Given the description of an element on the screen output the (x, y) to click on. 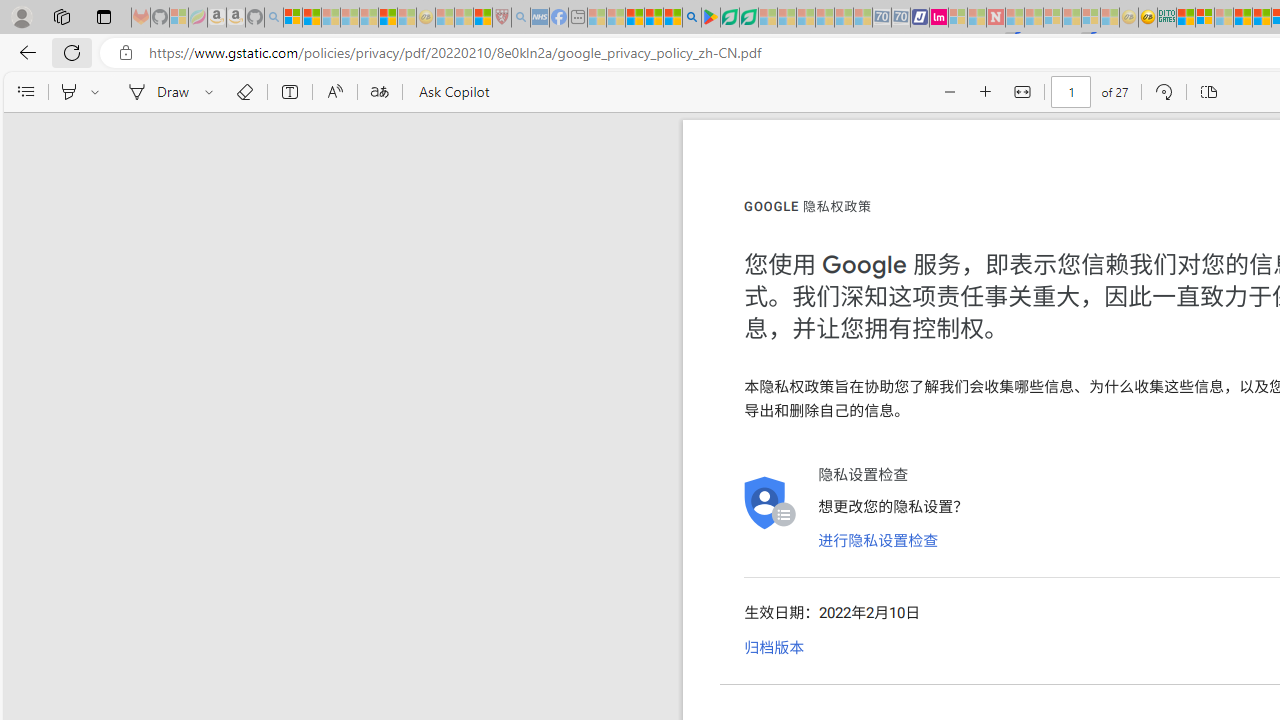
Bluey: Let's Play! - Apps on Google Play (710, 17)
Pets - MSN (654, 17)
The Weather Channel - MSN - Sleeping (331, 17)
Microsoft Start - Sleeping (976, 17)
Recipes - MSN - Sleeping (445, 17)
Zoom in (Ctrl+Plus key) (985, 92)
MSNBC - MSN (1185, 17)
Select a highlight color (98, 92)
Kinda Frugal - MSN (1262, 17)
Zoom out (Ctrl+Minus key) (949, 92)
